Given the description of an element on the screen output the (x, y) to click on. 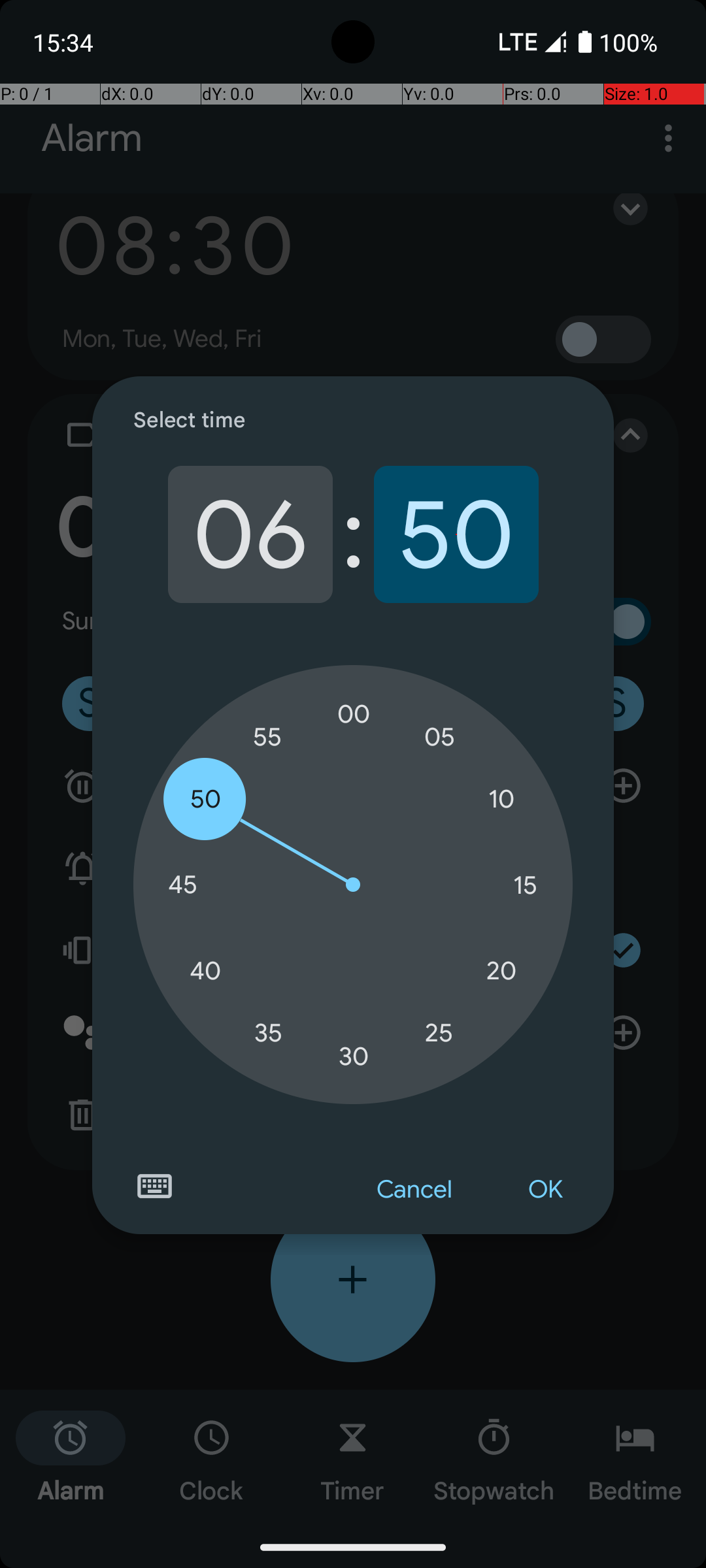
06 Element type: android.view.View (250, 534)
